Given the description of an element on the screen output the (x, y) to click on. 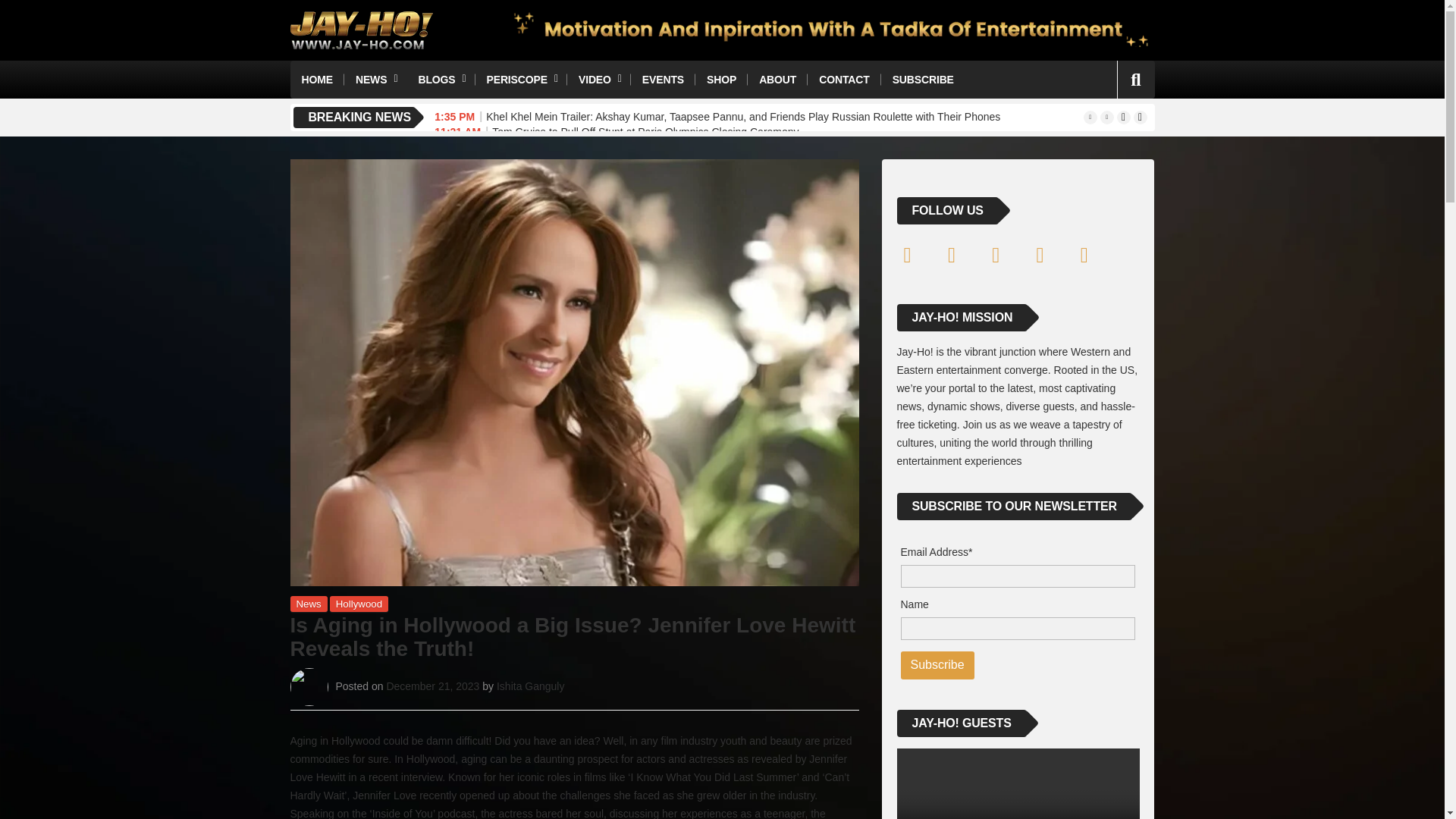
NEWS (374, 79)
CONTACT (844, 79)
PERISCOPE (520, 79)
Subscribe (937, 665)
HOME (316, 79)
BLOGS (440, 79)
VIDEO (598, 79)
EVENTS (662, 79)
ABOUT (778, 79)
SHOP (721, 79)
